Given the description of an element on the screen output the (x, y) to click on. 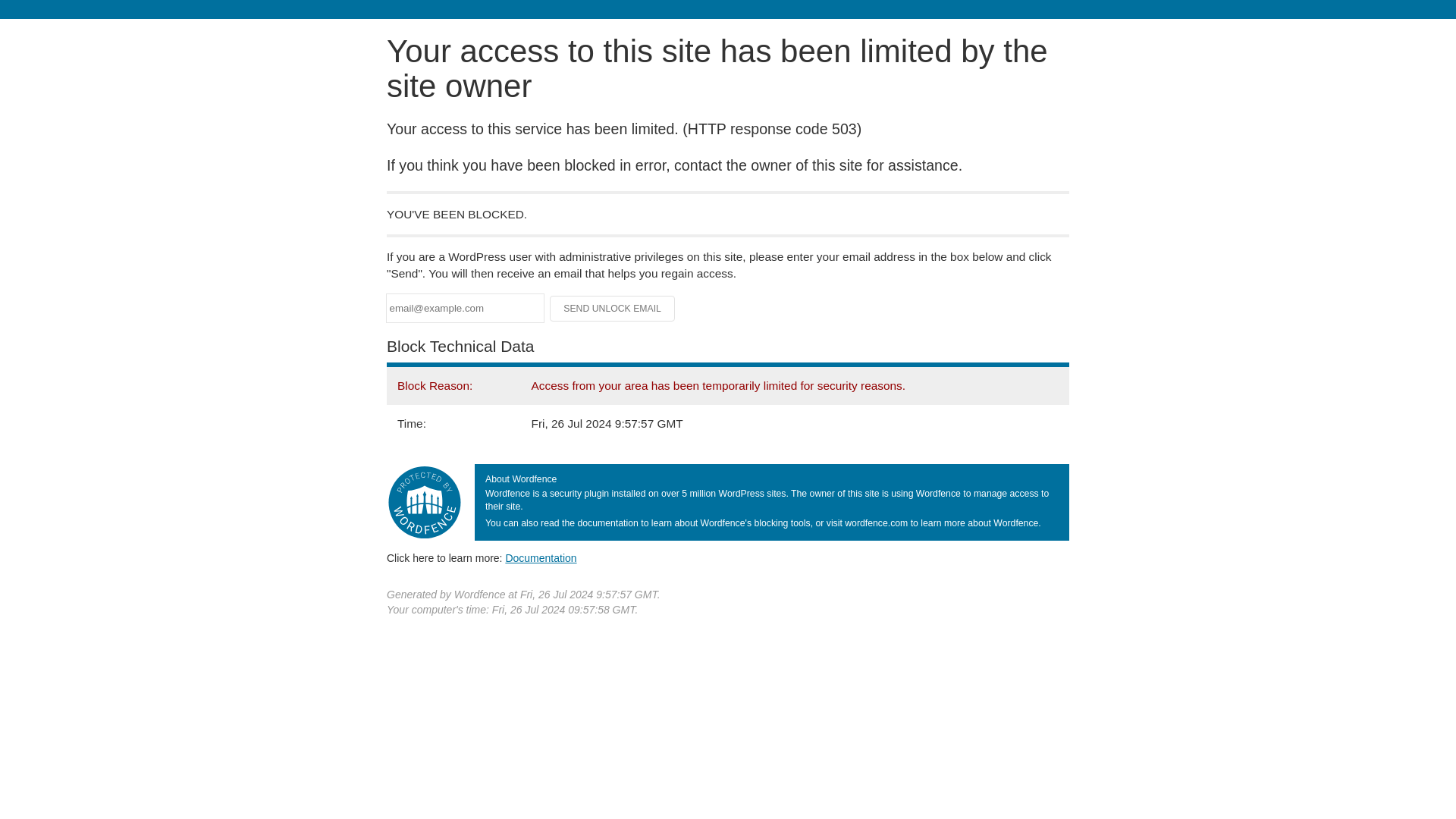
Send Unlock Email (612, 308)
Documentation (540, 558)
Send Unlock Email (612, 308)
